Given the description of an element on the screen output the (x, y) to click on. 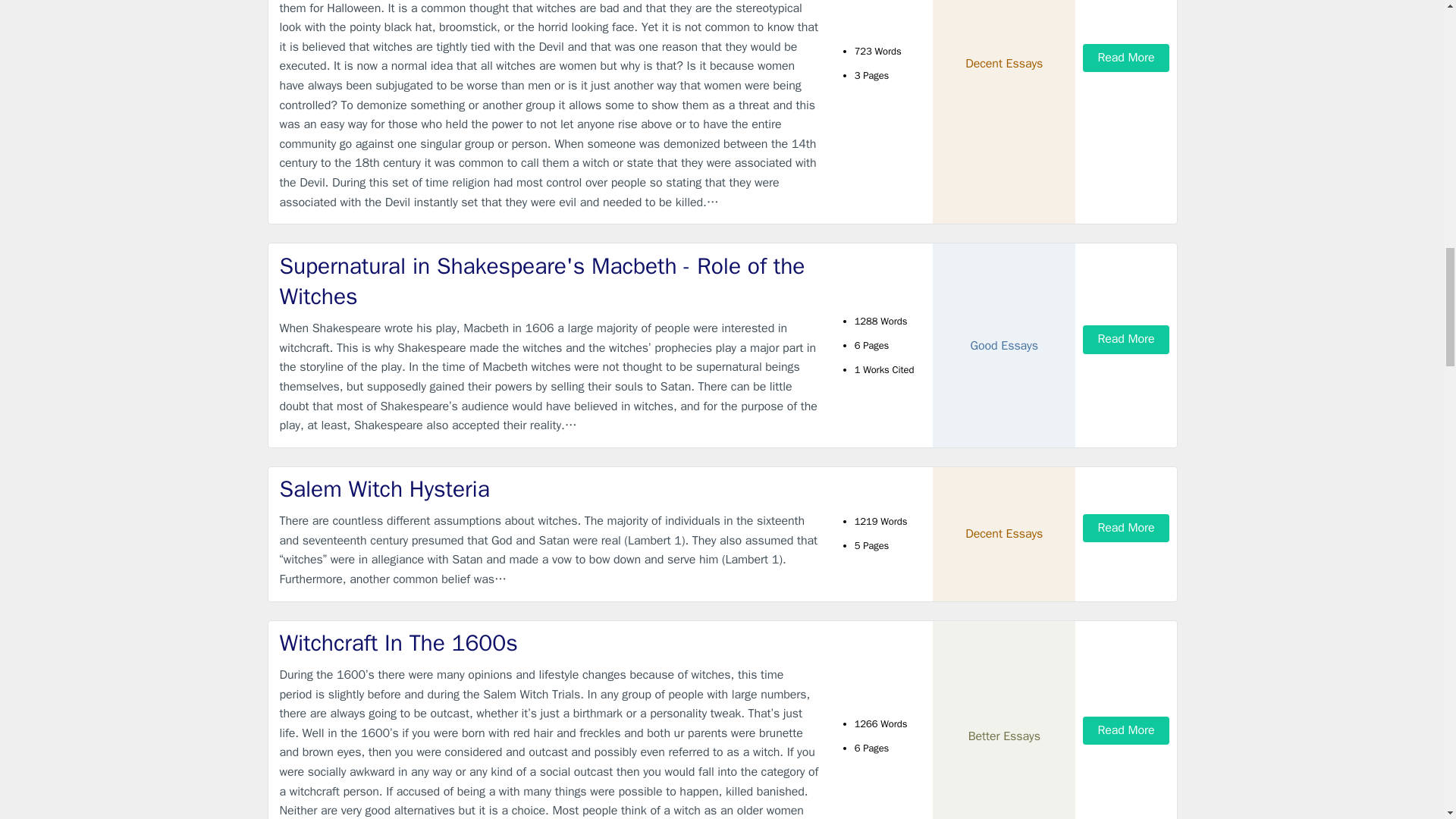
Read More (1126, 338)
Salem Witch Hysteria (548, 489)
Read More (1126, 58)
Read More (1126, 730)
Read More (1126, 528)
Supernatural in Shakespeare's Macbeth - Role of the Witches (548, 281)
Witchcraft In The 1600s (548, 643)
